Given the description of an element on the screen output the (x, y) to click on. 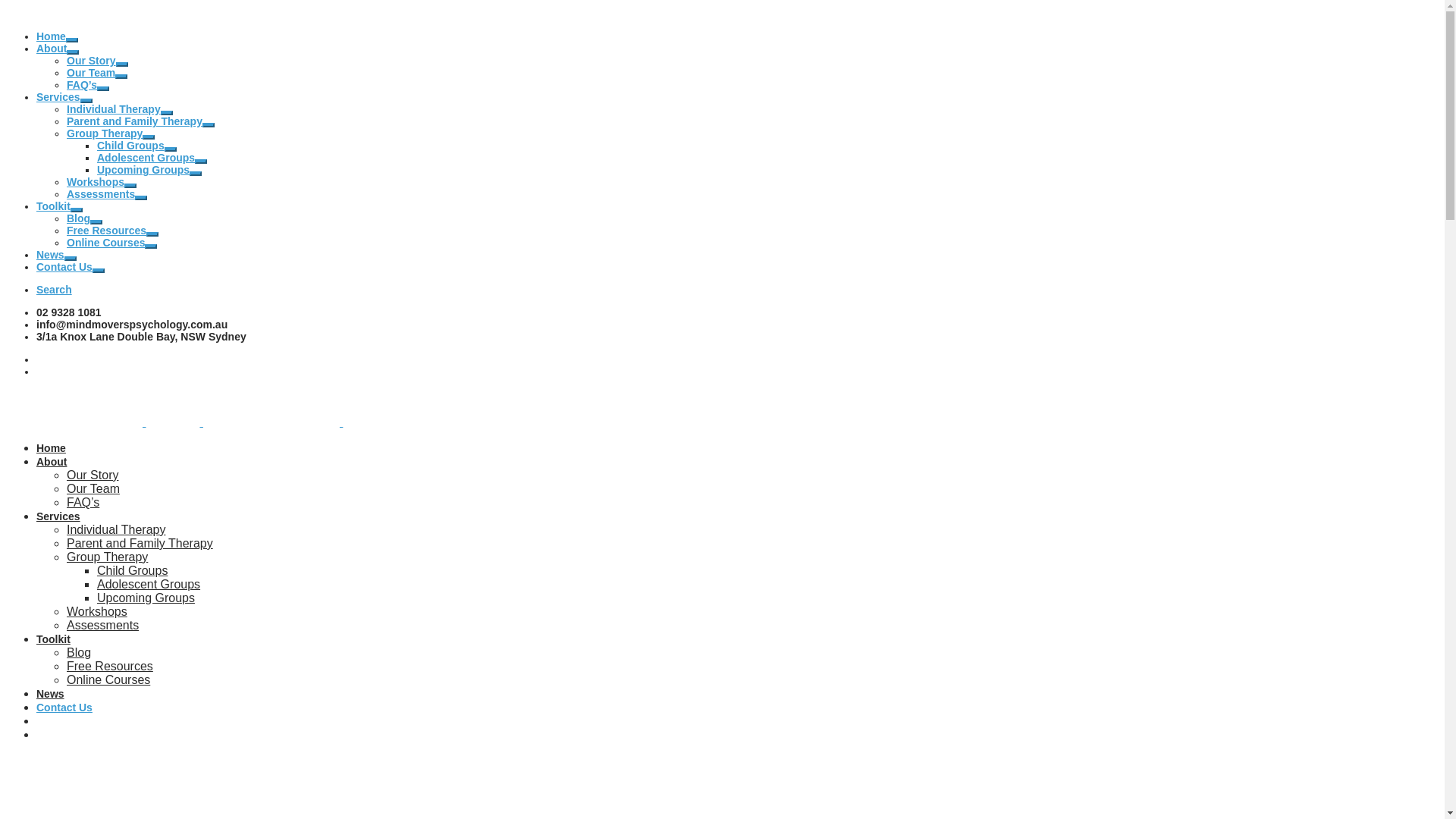
News Element type: text (50, 693)
Free Resources Element type: text (106, 230)
Individual Therapy Element type: text (113, 109)
Assessments Element type: text (100, 194)
Upcoming Groups Element type: text (143, 169)
Workshops Element type: text (95, 181)
Toolkit Element type: text (53, 639)
Contact Us Element type: text (64, 707)
Services Element type: text (58, 97)
About Element type: text (51, 48)
Free Resources Element type: text (109, 665)
Child Groups Element type: text (130, 145)
Adolescent Groups Element type: text (145, 157)
Assessments Element type: text (102, 624)
Search Element type: text (54, 289)
Online Courses Element type: text (105, 242)
Blog Element type: text (78, 218)
Child Groups Element type: text (132, 570)
Home Element type: text (50, 36)
Our Team Element type: text (90, 72)
News Element type: text (50, 254)
Adolescent Groups Element type: text (148, 583)
About Element type: text (51, 461)
Upcoming Groups Element type: text (145, 597)
Services Element type: text (58, 516)
Blog Element type: text (78, 652)
Our Story Element type: text (92, 474)
Group Therapy Element type: text (106, 556)
Home Element type: text (50, 448)
Toolkit Element type: text (53, 206)
Workshops Element type: text (96, 611)
Our Story Element type: text (91, 60)
Parent and Family Therapy Element type: text (134, 121)
Contact Us Element type: text (64, 266)
Individual Therapy Element type: text (115, 529)
Group Therapy Element type: text (104, 133)
Parent and Family Therapy Element type: text (139, 542)
Online Courses Element type: text (108, 679)
Our Team Element type: text (92, 488)
